Given the description of an element on the screen output the (x, y) to click on. 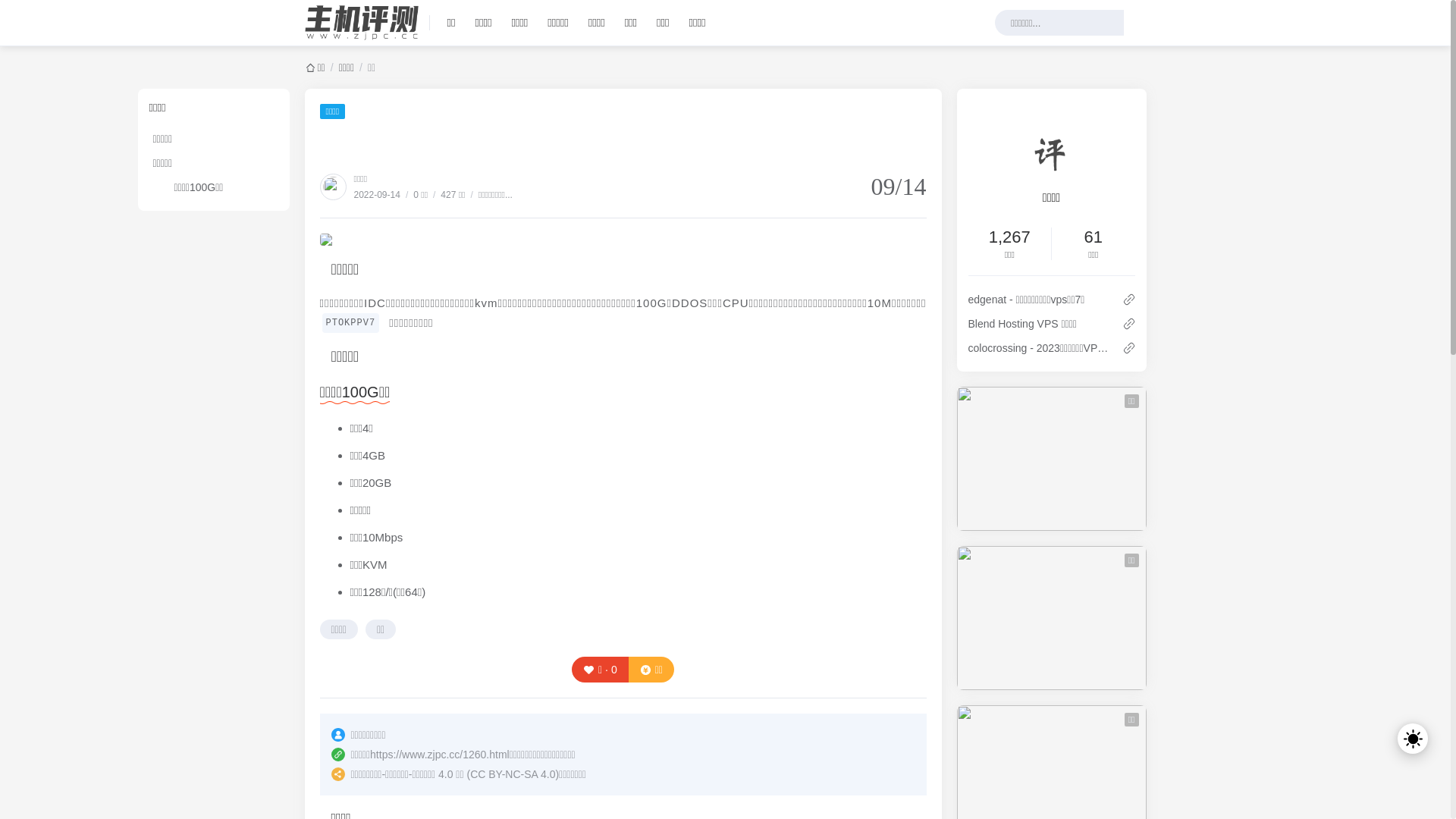
https://www.zjpc.cc/1260.html Element type: text (439, 754)
